Given the description of an element on the screen output the (x, y) to click on. 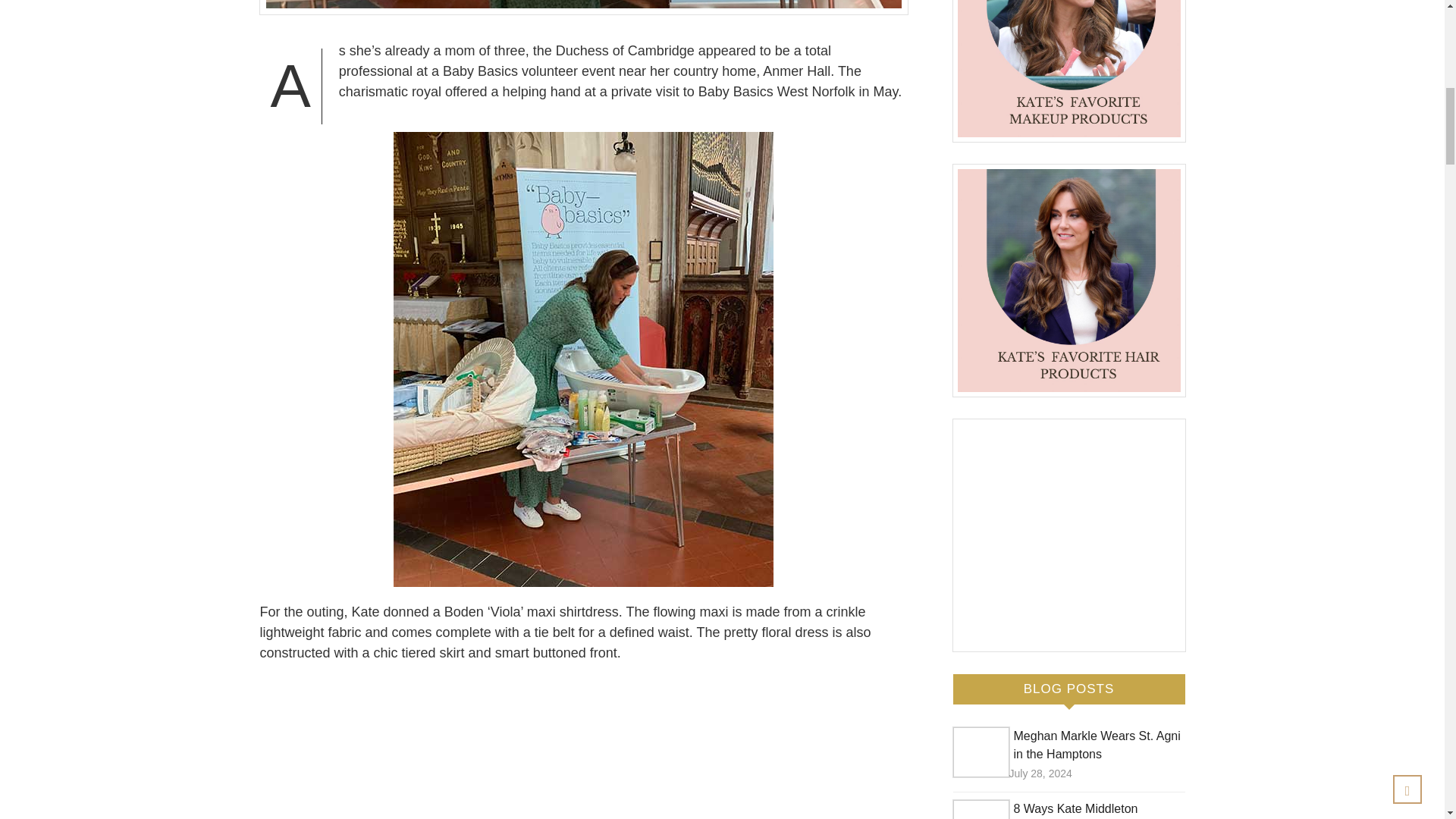
Meghan Markle Wears St. Agni in the Hamptons (1096, 744)
